Given the description of an element on the screen output the (x, y) to click on. 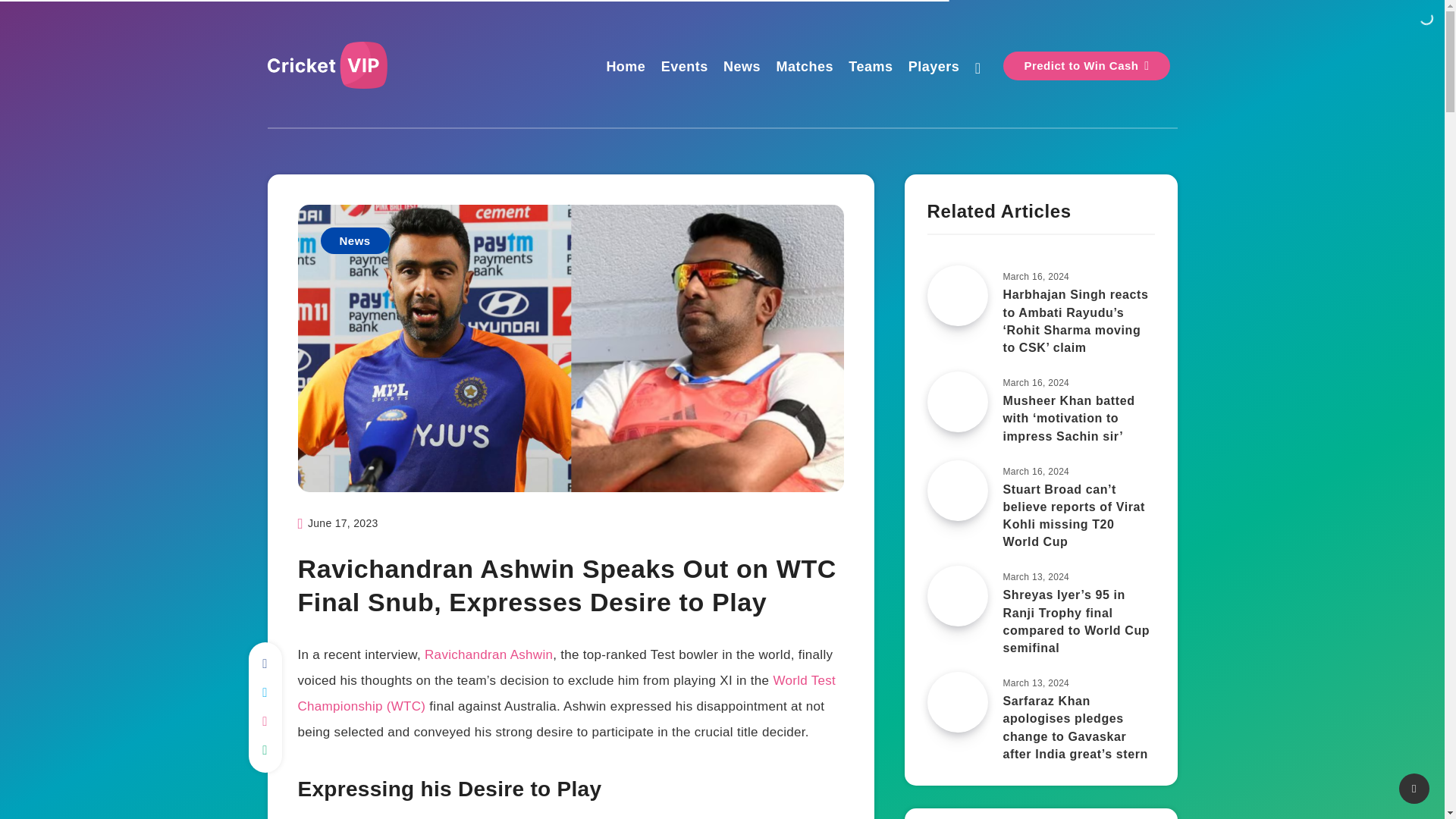
Home (625, 68)
Teams (870, 68)
Events (684, 68)
Ravichandran Ashwin (489, 654)
Players (933, 68)
Matches (804, 68)
News (741, 68)
Predict to Win Cash (1086, 65)
News (354, 240)
